Given the description of an element on the screen output the (x, y) to click on. 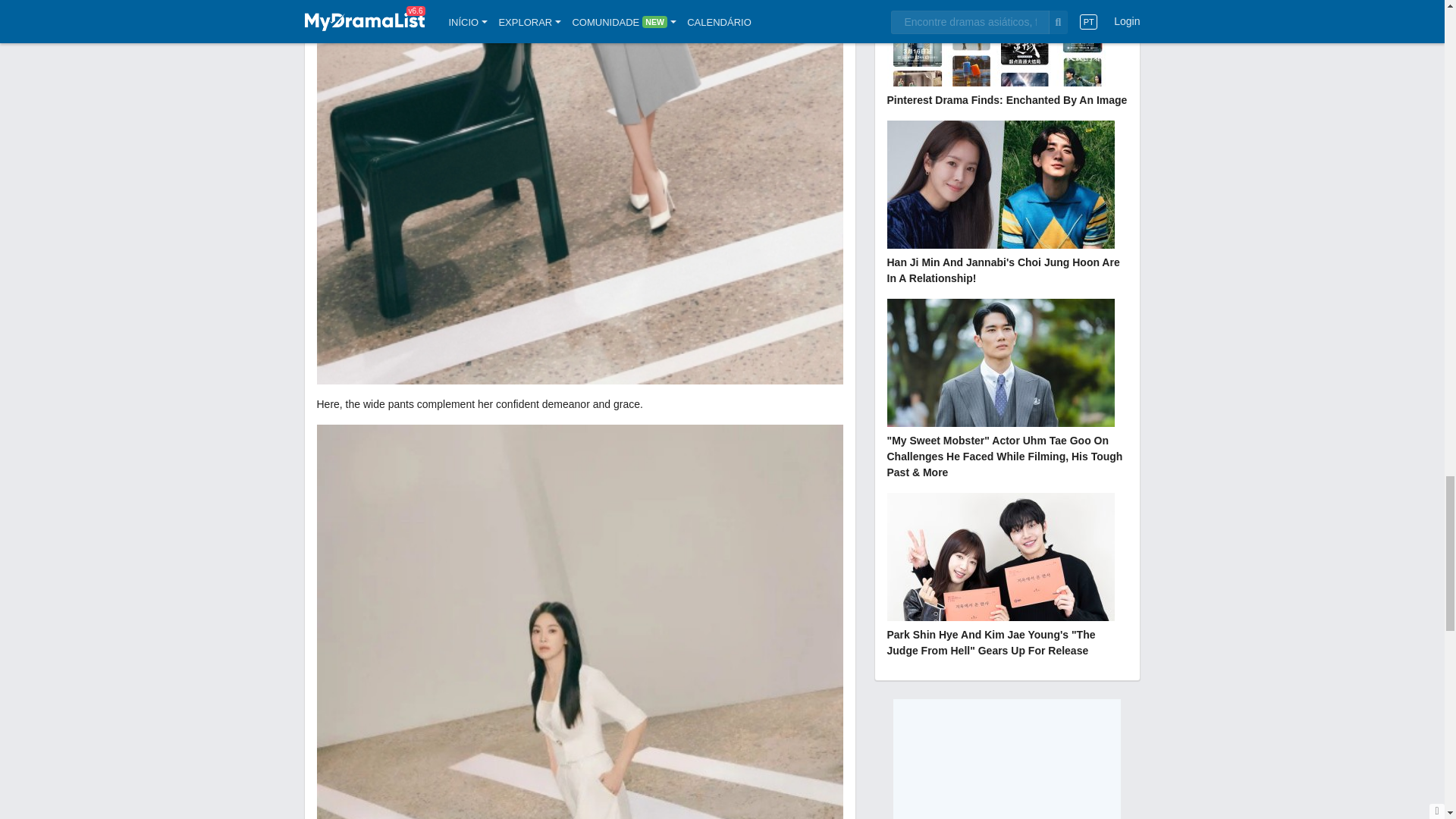
Pinterest Drama Finds: Enchanted by an Image (1007, 55)
Park Shin Hye and Kim Jae Young's  (1007, 576)
